Given the description of an element on the screen output the (x, y) to click on. 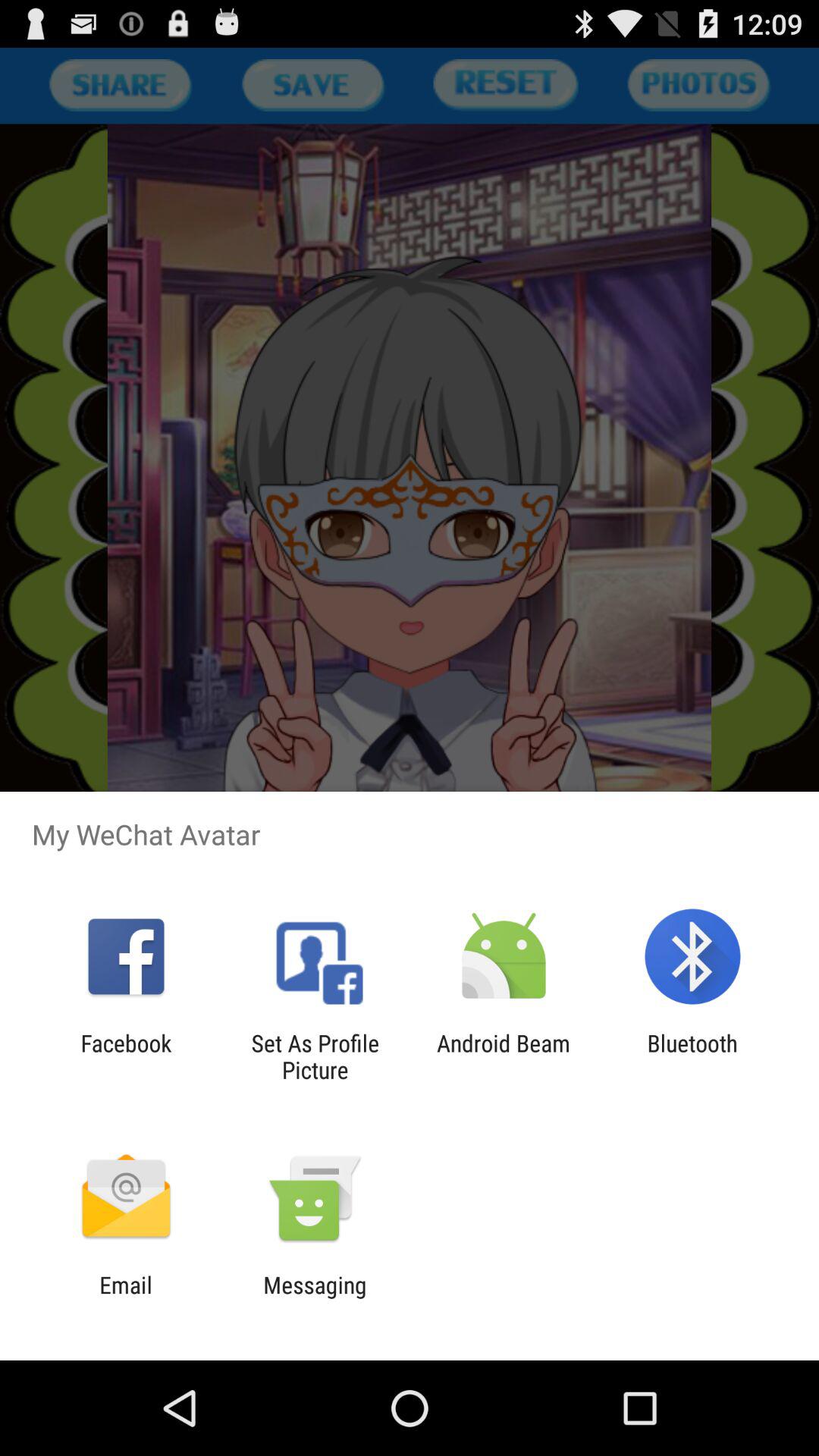
turn on the item to the right of the facebook app (314, 1056)
